Given the description of an element on the screen output the (x, y) to click on. 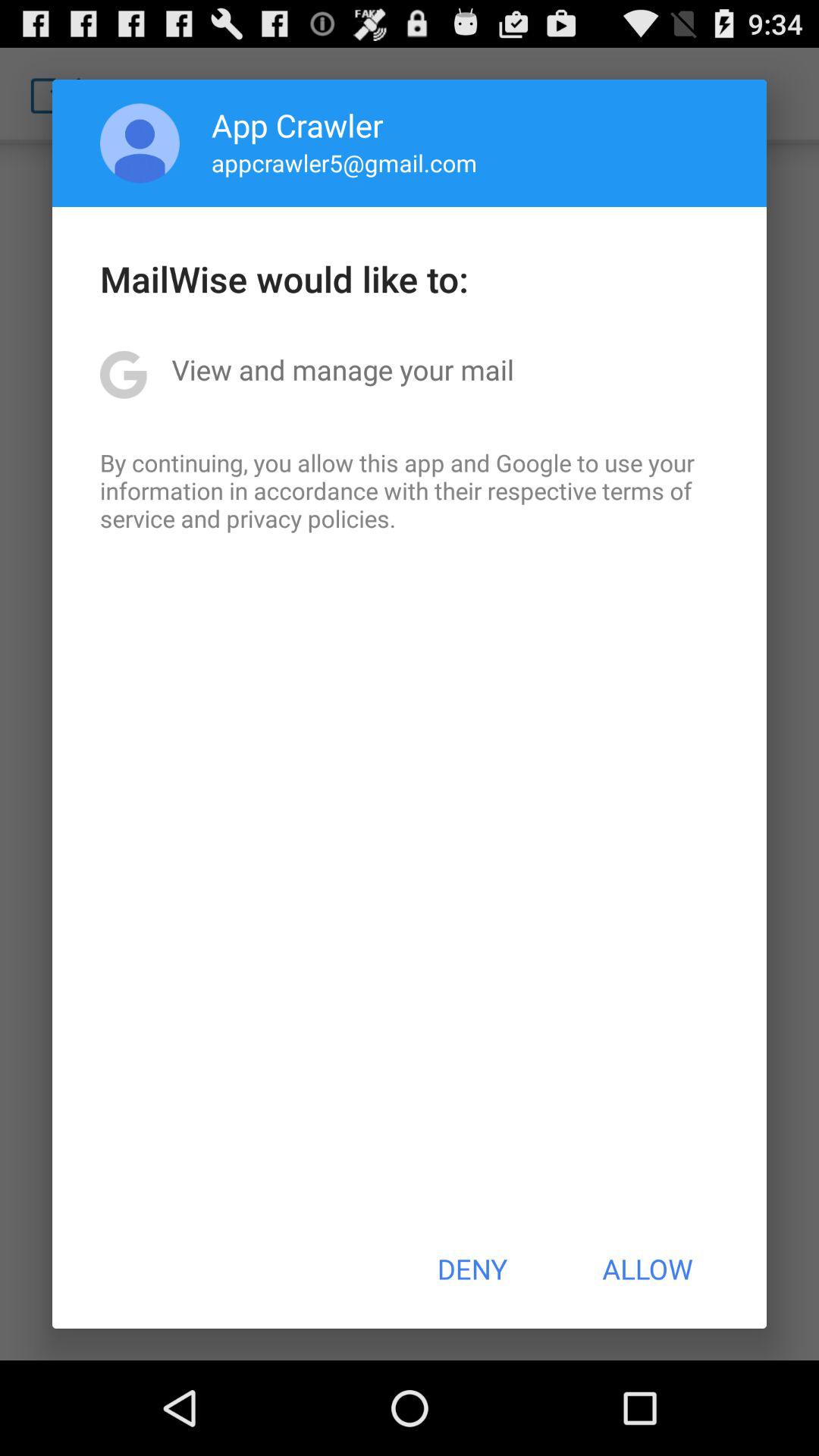
launch item below mailwise would like (342, 369)
